Given the description of an element on the screen output the (x, y) to click on. 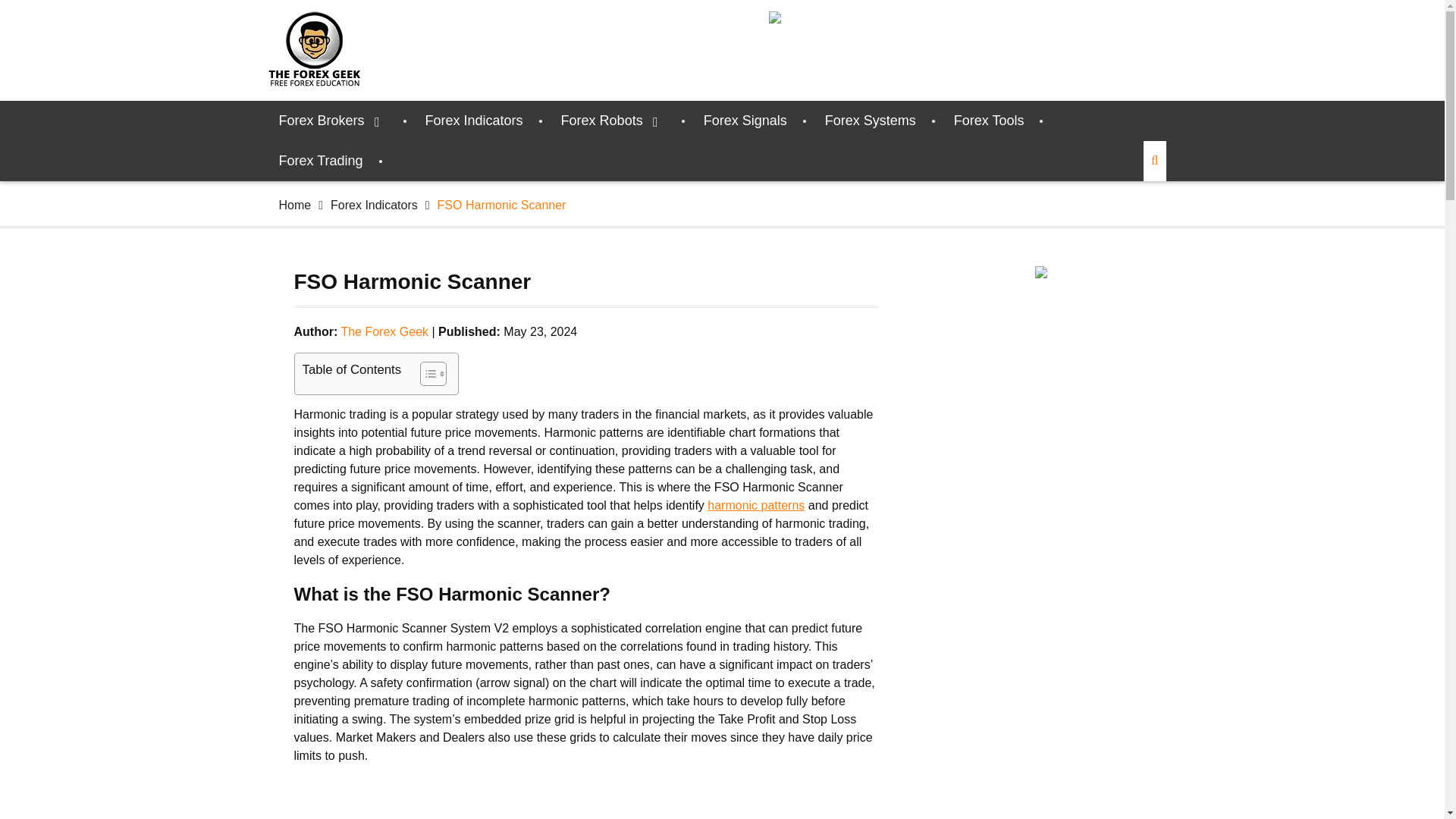
The Forex Geek (384, 331)
Forex Trading (320, 160)
Forex Brokers (333, 120)
Forex Robots (612, 120)
Forex Signals (745, 120)
Home (295, 205)
Forex Systems (870, 120)
Forex Tools (989, 120)
FSO Harmonic Scanner - MT4 (584, 797)
Forex Indicators (473, 120)
